Given the description of an element on the screen output the (x, y) to click on. 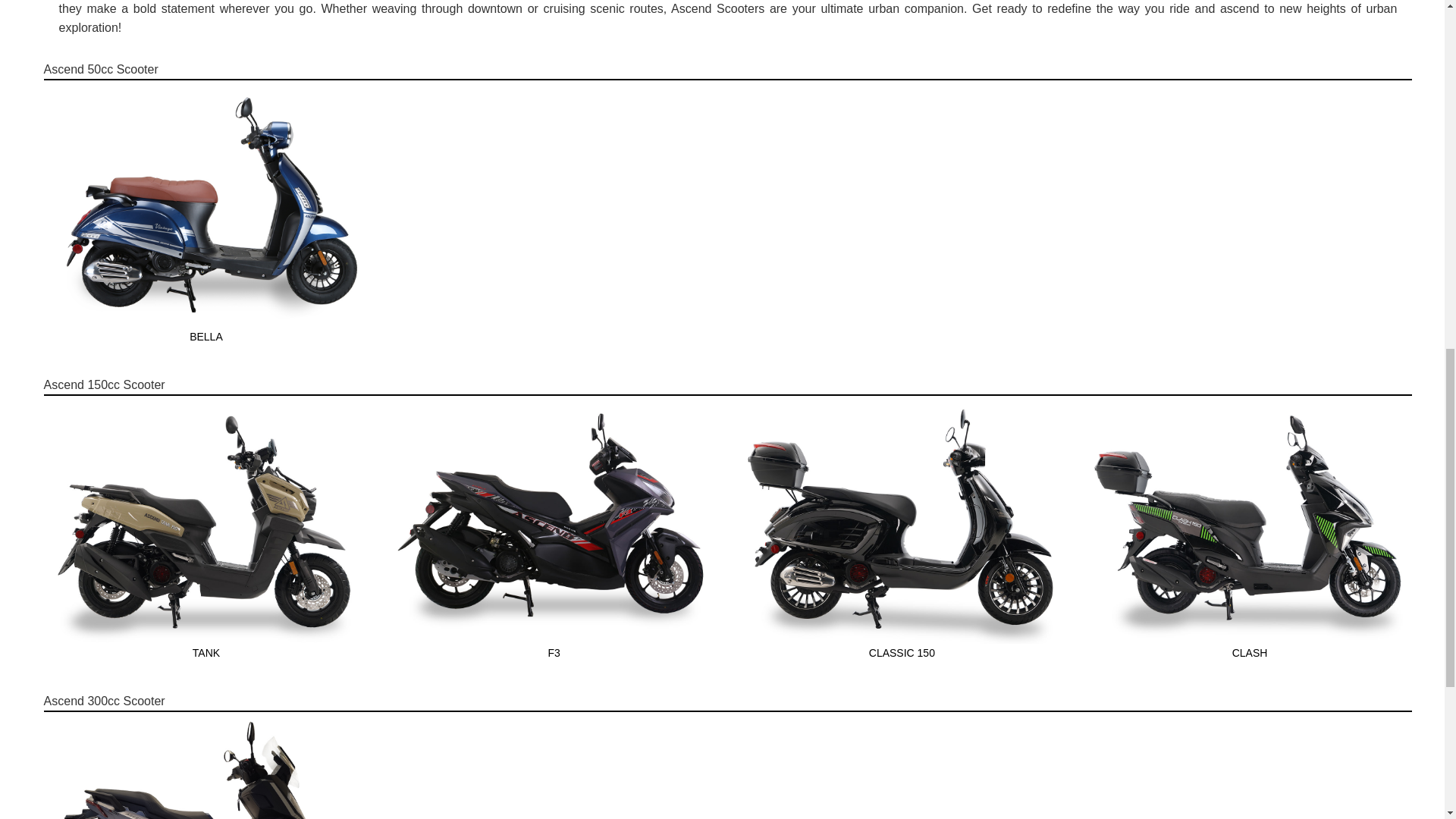
TANK (206, 652)
CLASSIC 150 (901, 652)
BELLA (206, 336)
CLASH (1249, 652)
F3 (553, 652)
